Given the description of an element on the screen output the (x, y) to click on. 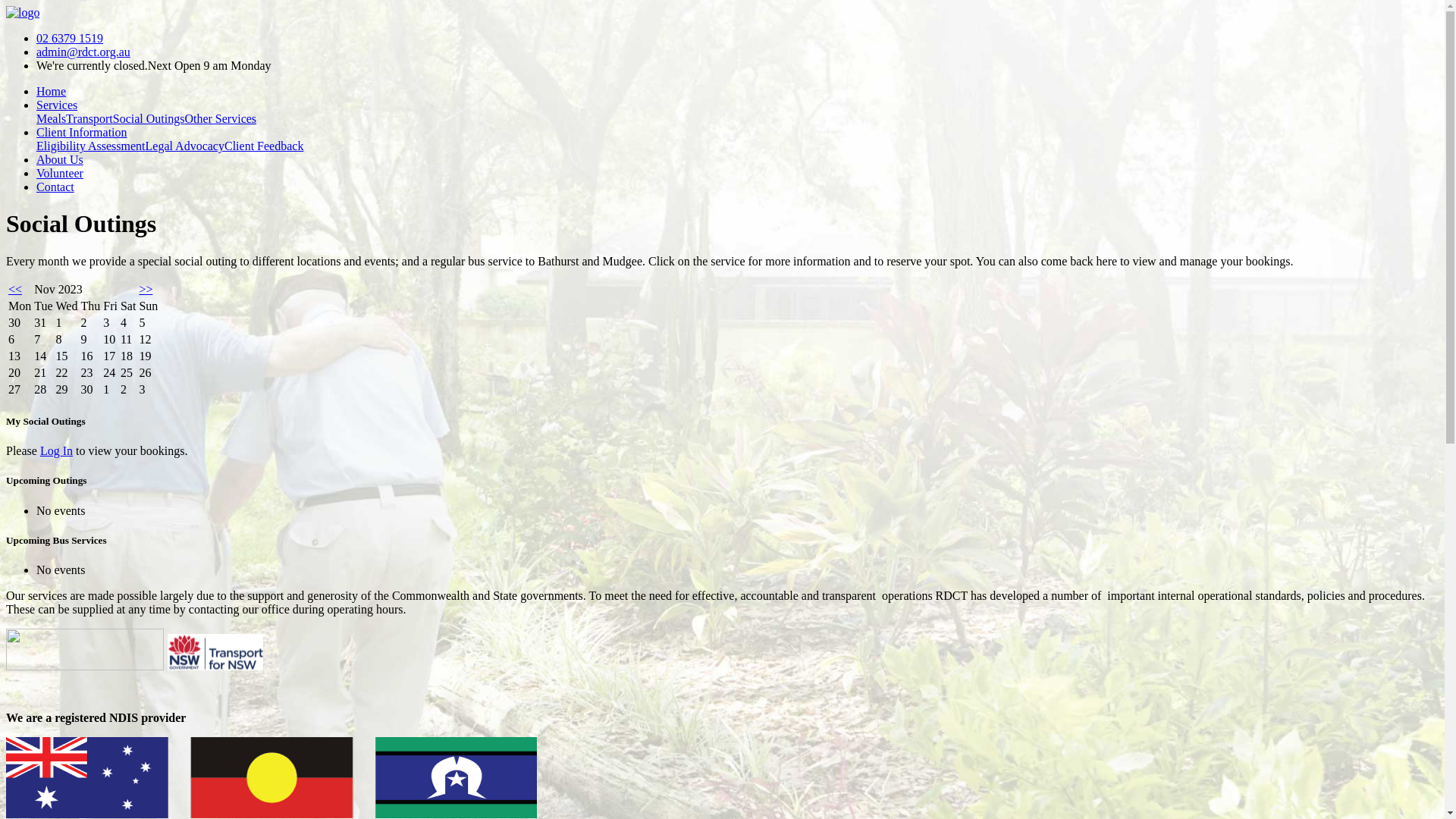
Client Feedback Element type: text (263, 145)
admin@rdct.org.au Element type: text (83, 51)
02 6379 1519 Element type: text (69, 37)
Meals Element type: text (50, 118)
About Us Element type: text (59, 159)
Transport Element type: text (88, 118)
Legal Advocacy Element type: text (184, 145)
Client Information Element type: text (81, 131)
Eligibility Assessment Element type: text (90, 145)
Social Outings Element type: text (148, 118)
<< Element type: text (14, 288)
Contact Element type: text (55, 186)
Home Element type: text (50, 90)
Volunteer Element type: text (59, 172)
>> Element type: text (145, 288)
Log In Element type: text (56, 450)
Other Services Element type: text (220, 118)
Services Element type: text (56, 104)
